Given the description of an element on the screen output the (x, y) to click on. 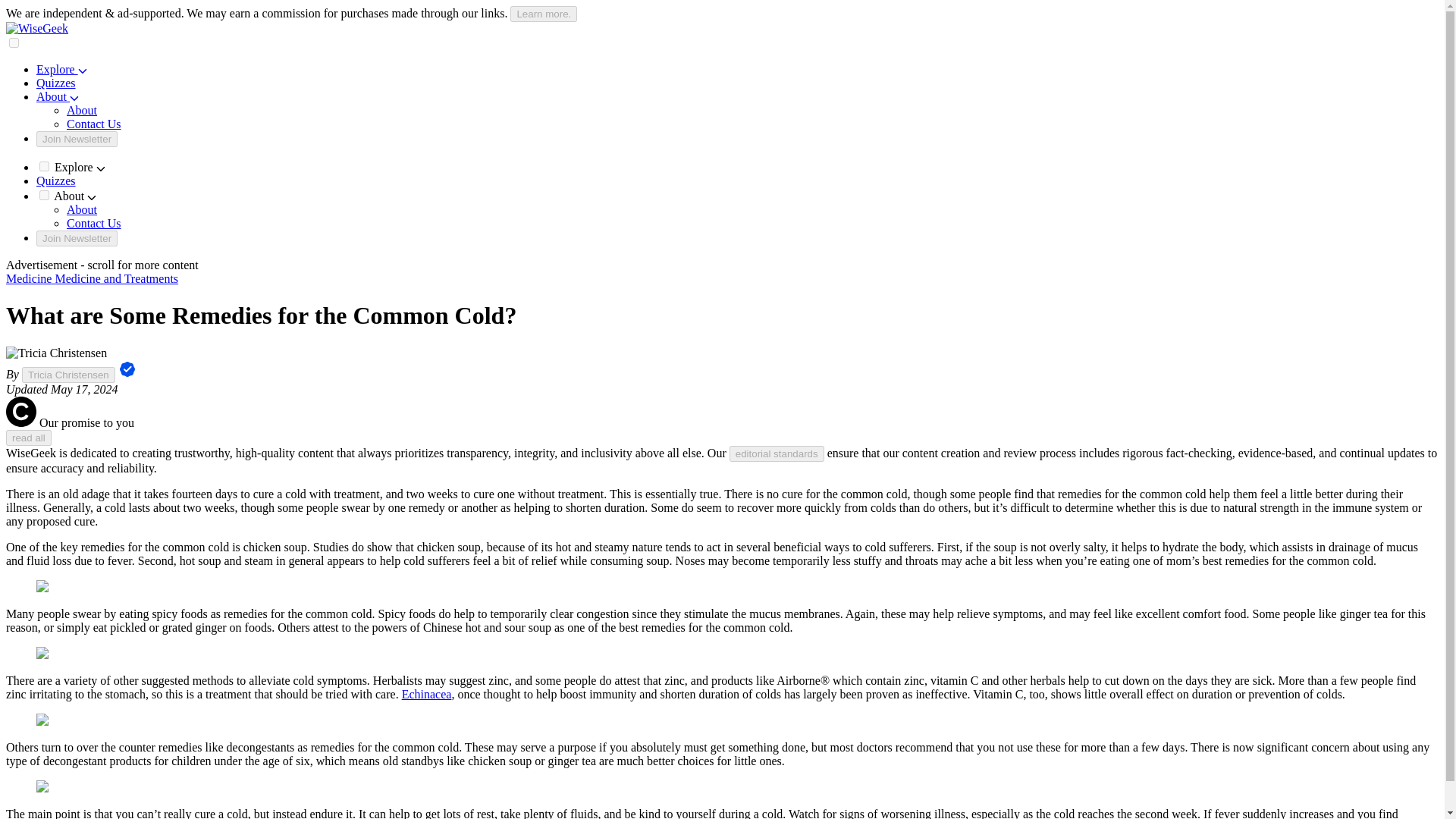
Quizzes (55, 82)
About (81, 110)
Medicine Medicine and Treatments (91, 278)
read all (27, 437)
Tricia Christensen (68, 374)
on (44, 194)
Join Newsletter (76, 139)
Contact Us (93, 223)
editorial standards (776, 453)
Learn more. (543, 13)
About (81, 209)
Contact Us (93, 123)
on (13, 42)
About (57, 96)
Quizzes (55, 180)
